Given the description of an element on the screen output the (x, y) to click on. 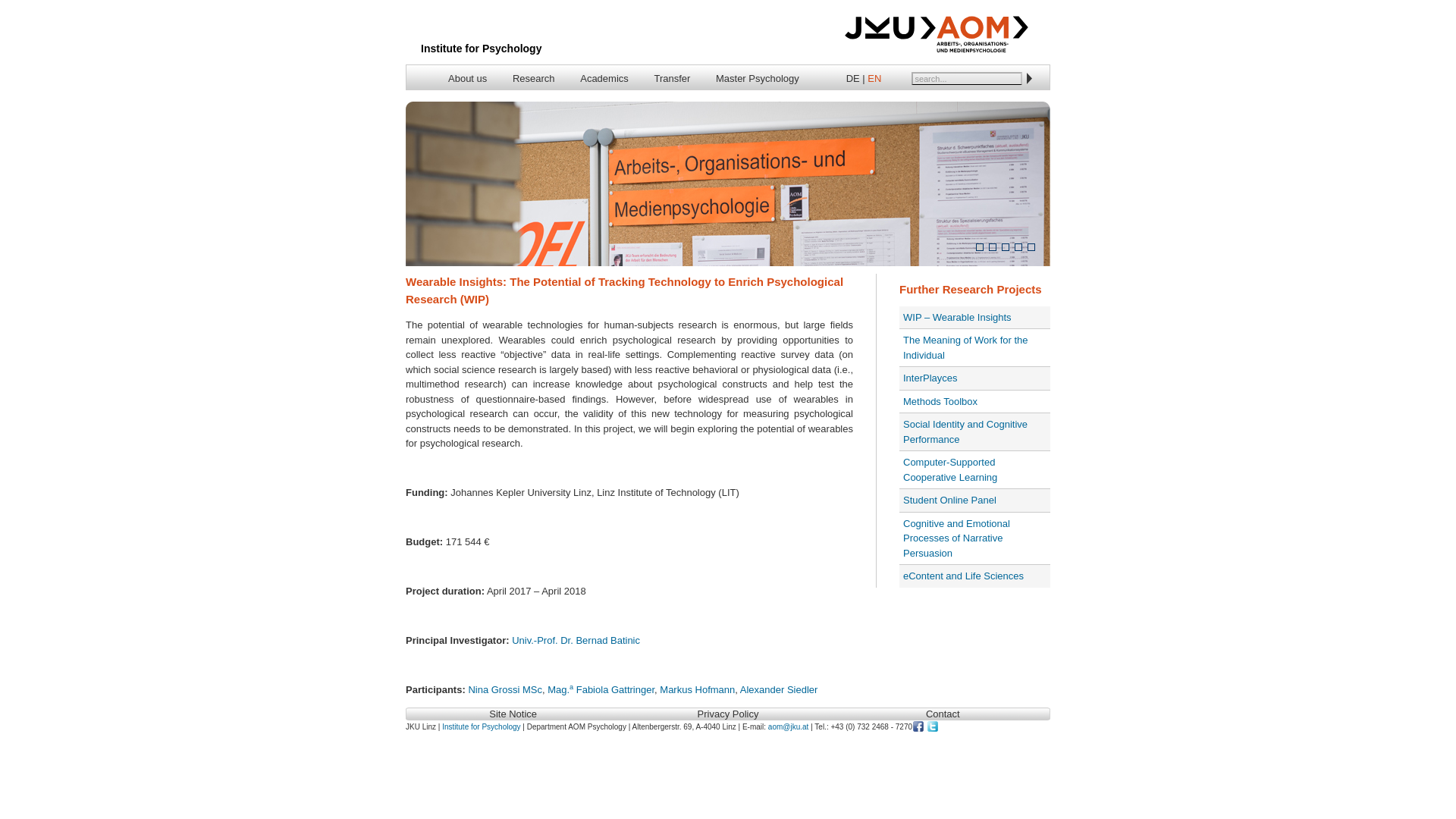
Institute for Psychology (480, 48)
InterPlayces (930, 378)
Methods Toolbox (939, 401)
About us (467, 78)
AOM (727, 188)
search... (966, 78)
The Meaning of Work for the Individual (964, 347)
WIP - Wearable Insights (956, 316)
